Given the description of an element on the screen output the (x, y) to click on. 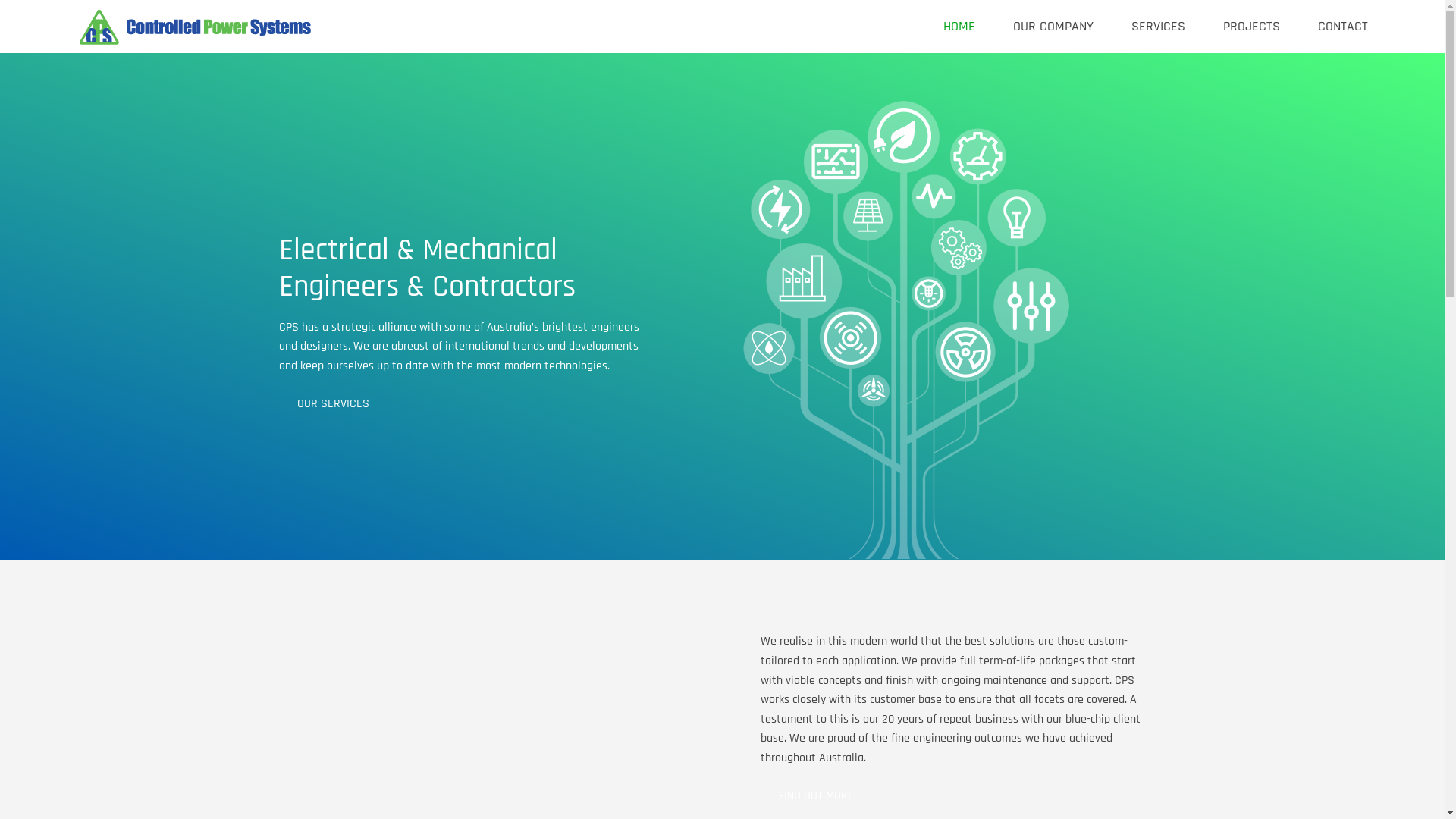
OUR COMPANY Element type: text (1053, 26)
OUR SERVICES Element type: text (333, 404)
Controlled Power Systems Element type: hover (197, 26)
CONTACT Element type: text (1342, 26)
SERVICES Element type: text (1158, 26)
FIND OUT MORE Element type: text (815, 796)
PROJECTS Element type: text (1251, 26)
HOME Element type: text (959, 26)
